Given the description of an element on the screen output the (x, y) to click on. 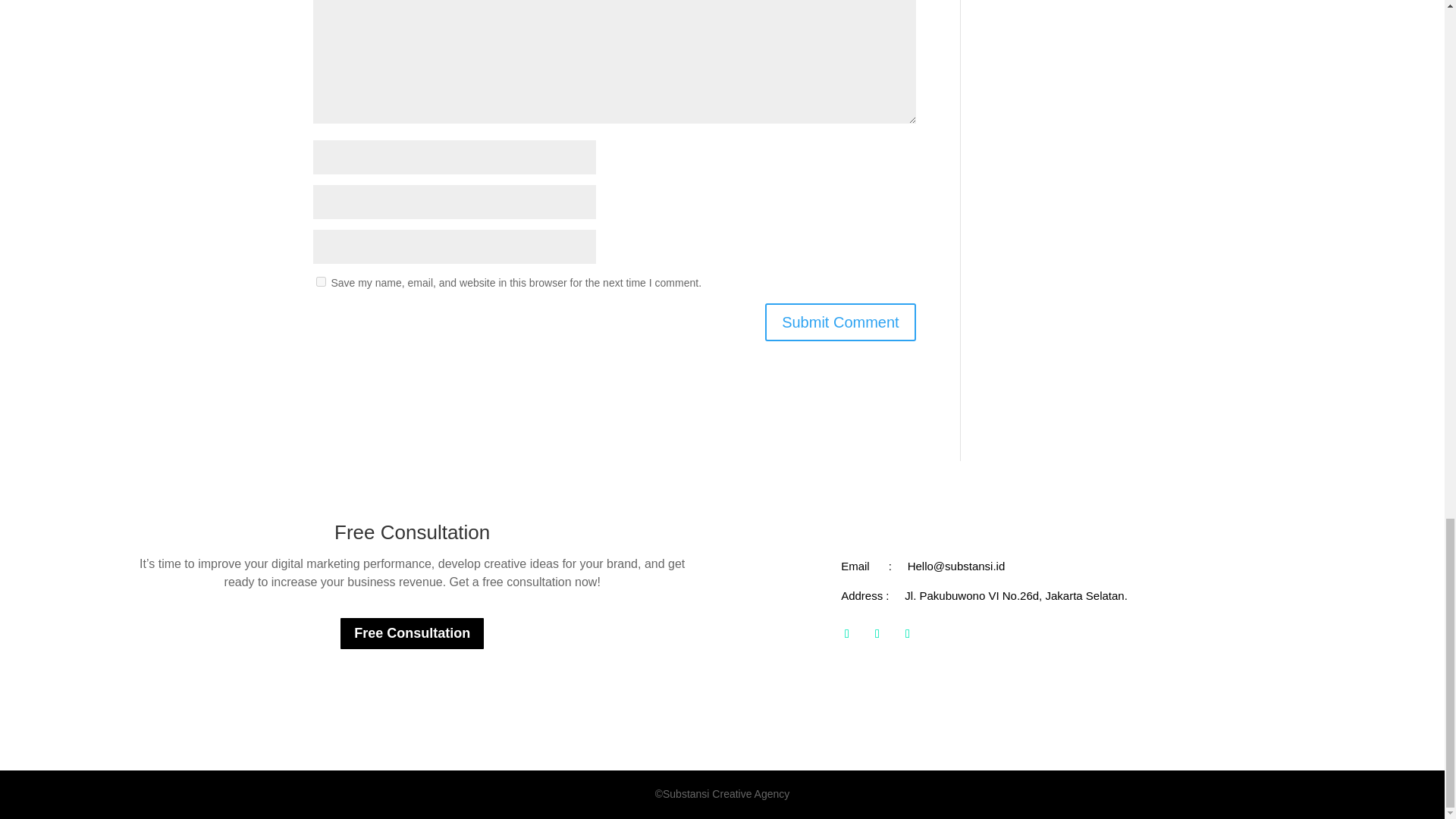
Follow on LinkedIn (907, 633)
yes (319, 281)
Follow on Instagram (876, 633)
Submit Comment (840, 322)
Submit Comment (840, 322)
Follow on Facebook (846, 633)
Free Consultation (411, 633)
